Given the description of an element on the screen output the (x, y) to click on. 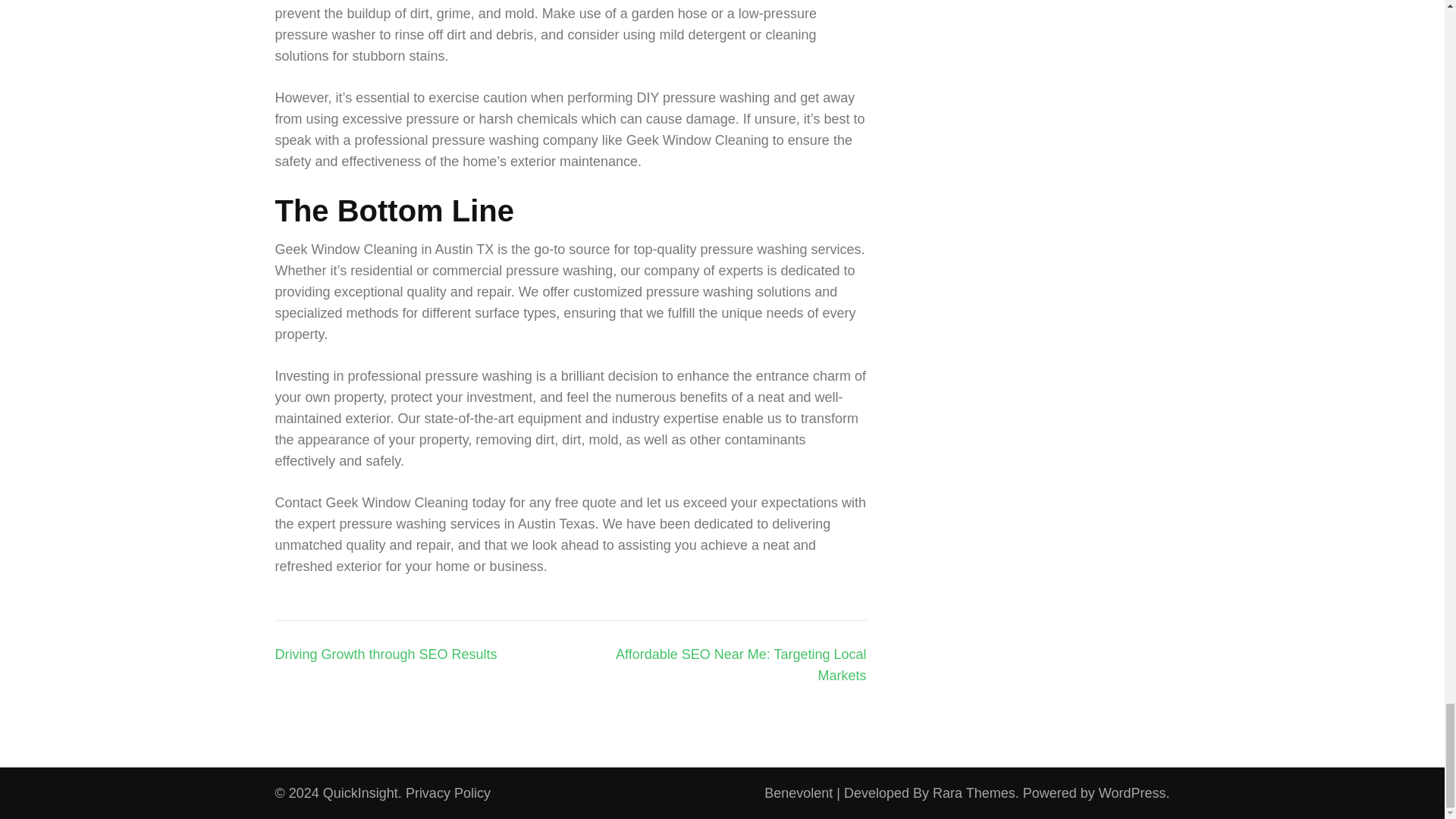
Affordable SEO Near Me: Targeting Local Markets (740, 665)
Driving Growth through SEO Results (385, 654)
